Given the description of an element on the screen output the (x, y) to click on. 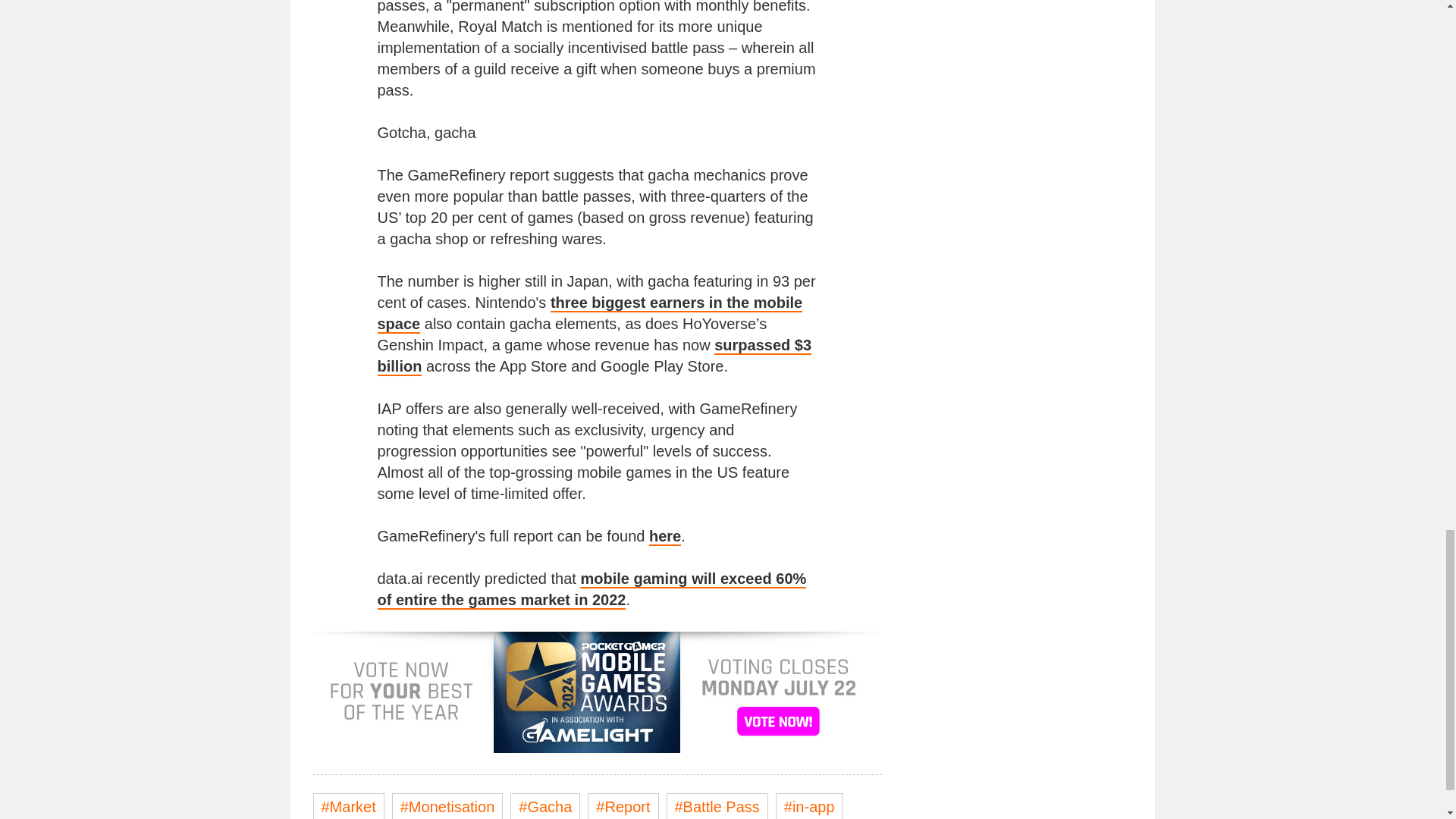
three biggest earners in the mobile space (590, 313)
here (665, 536)
